Given the description of an element on the screen output the (x, y) to click on. 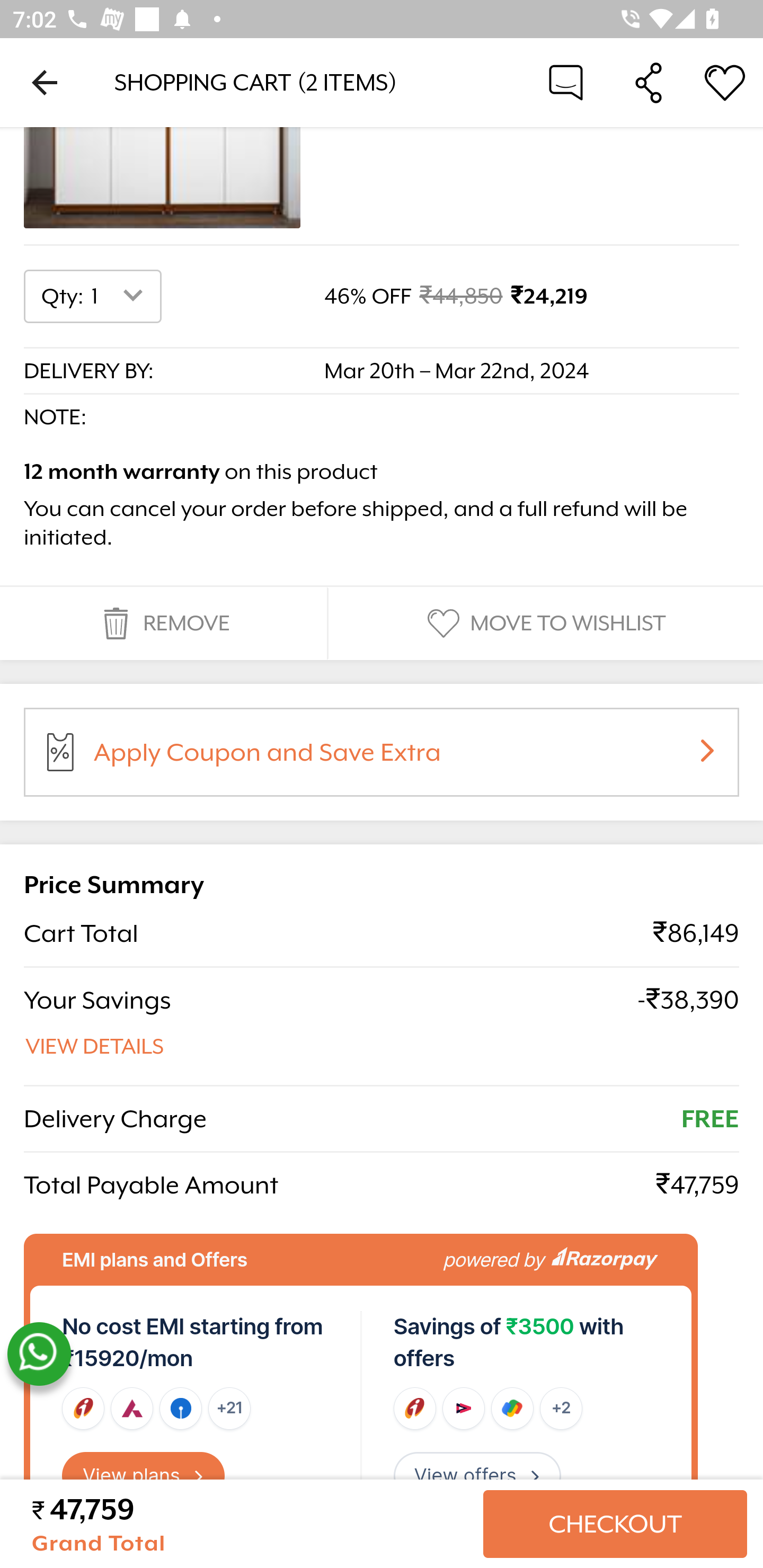
Navigate up (44, 82)
Chat (565, 81)
Share Cart (648, 81)
Wishlist (724, 81)
1 (121, 296)
REMOVE (163, 623)
MOVE TO WISHLIST (544, 623)
Apply Coupon and Save Extra (402, 758)
VIEW DETAILS (95, 1046)
whatsapp (38, 1353)
₹ 47,759 Grand Total (250, 1523)
CHECKOUT (614, 1523)
